Given the description of an element on the screen output the (x, y) to click on. 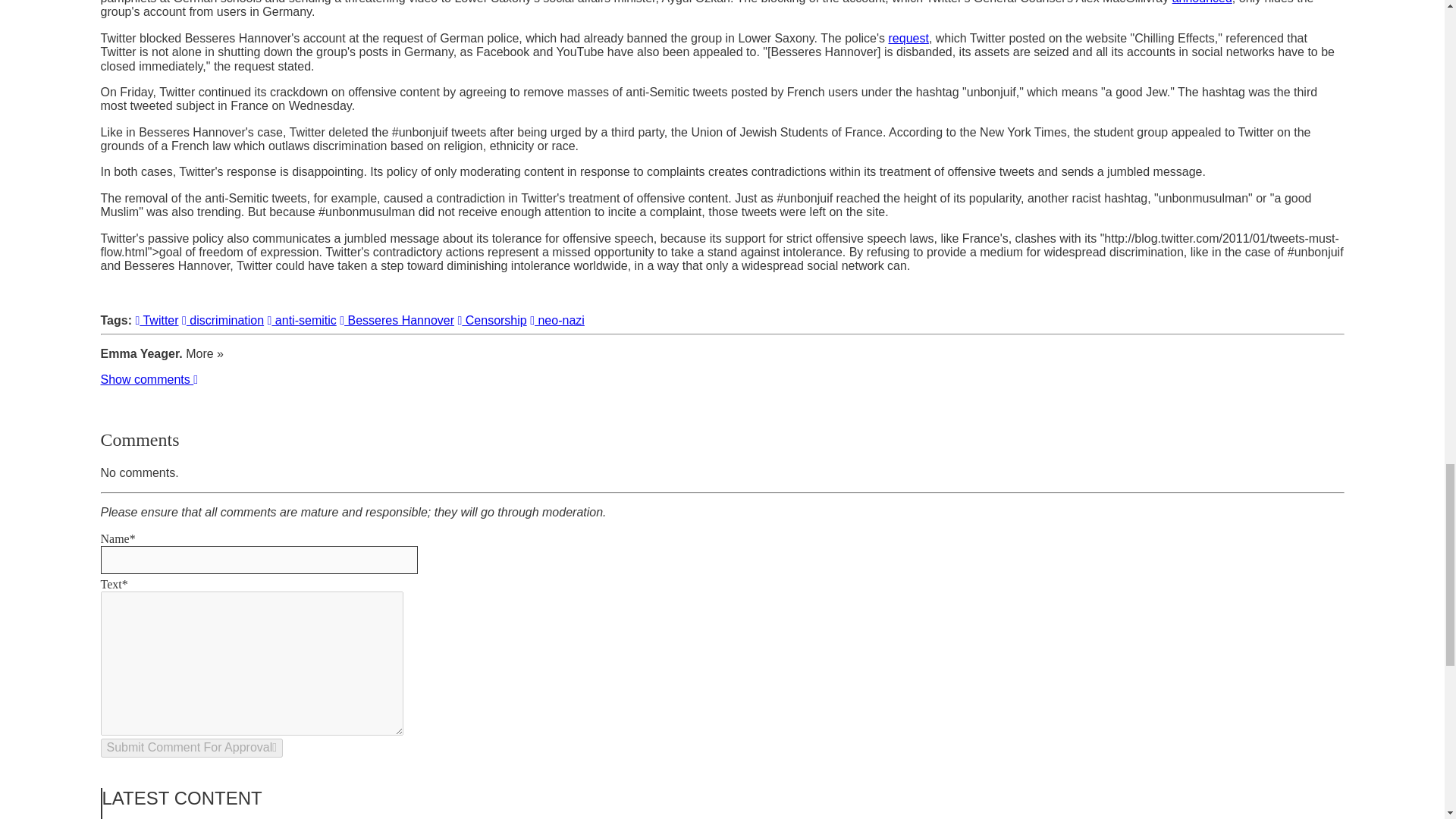
Show comments (149, 379)
Submit Comment For Approval (191, 747)
Besseres Hannover (396, 319)
discrimination (222, 319)
Twitter (156, 319)
anti-semitic (301, 319)
neo-nazi (557, 319)
Censorship (492, 319)
announced (1201, 2)
request (908, 38)
